Given the description of an element on the screen output the (x, y) to click on. 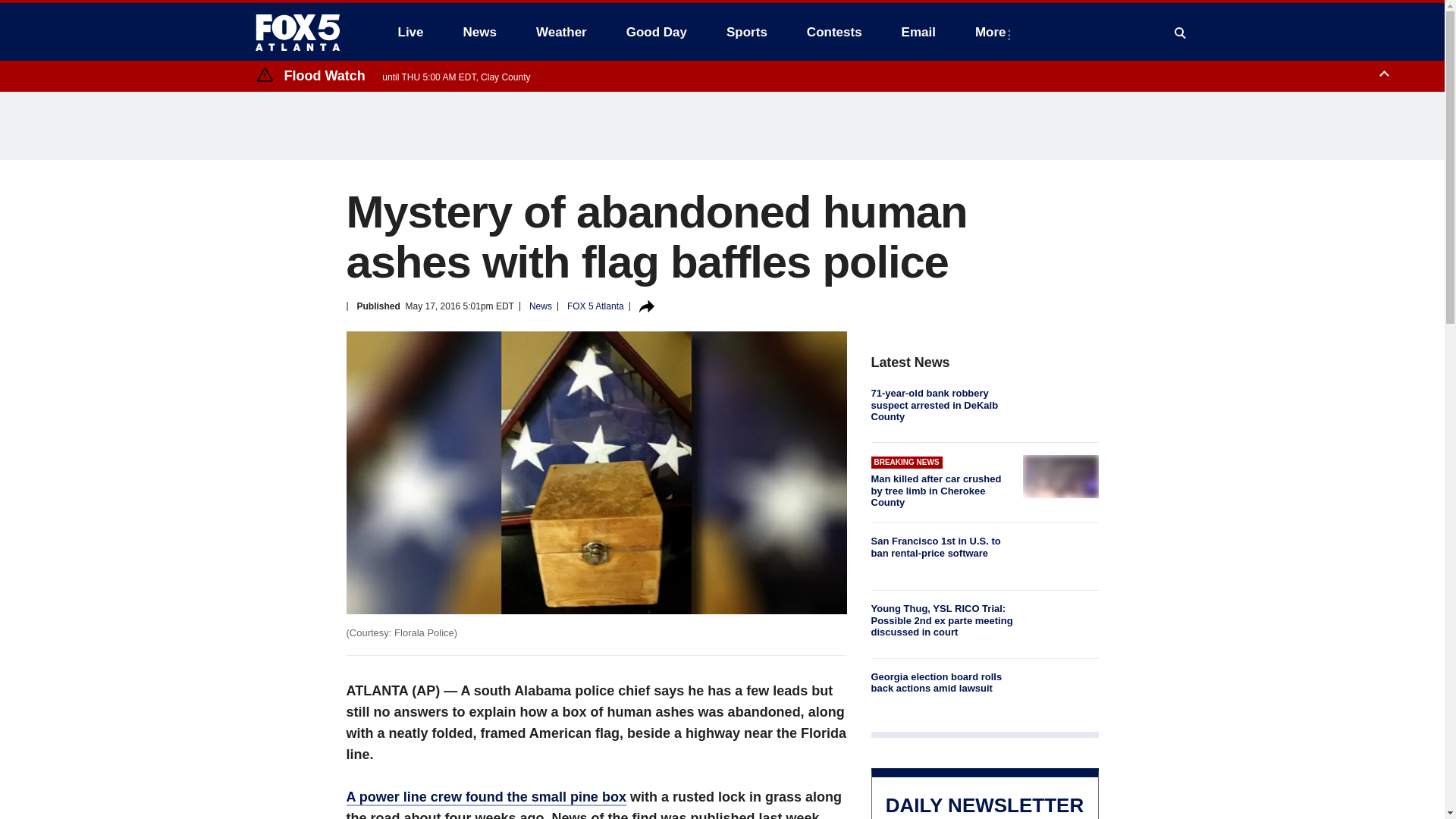
More (993, 32)
News (479, 32)
Weather (561, 32)
Sports (746, 32)
Good Day (656, 32)
Email (918, 32)
Contests (834, 32)
Live (410, 32)
